Given the description of an element on the screen output the (x, y) to click on. 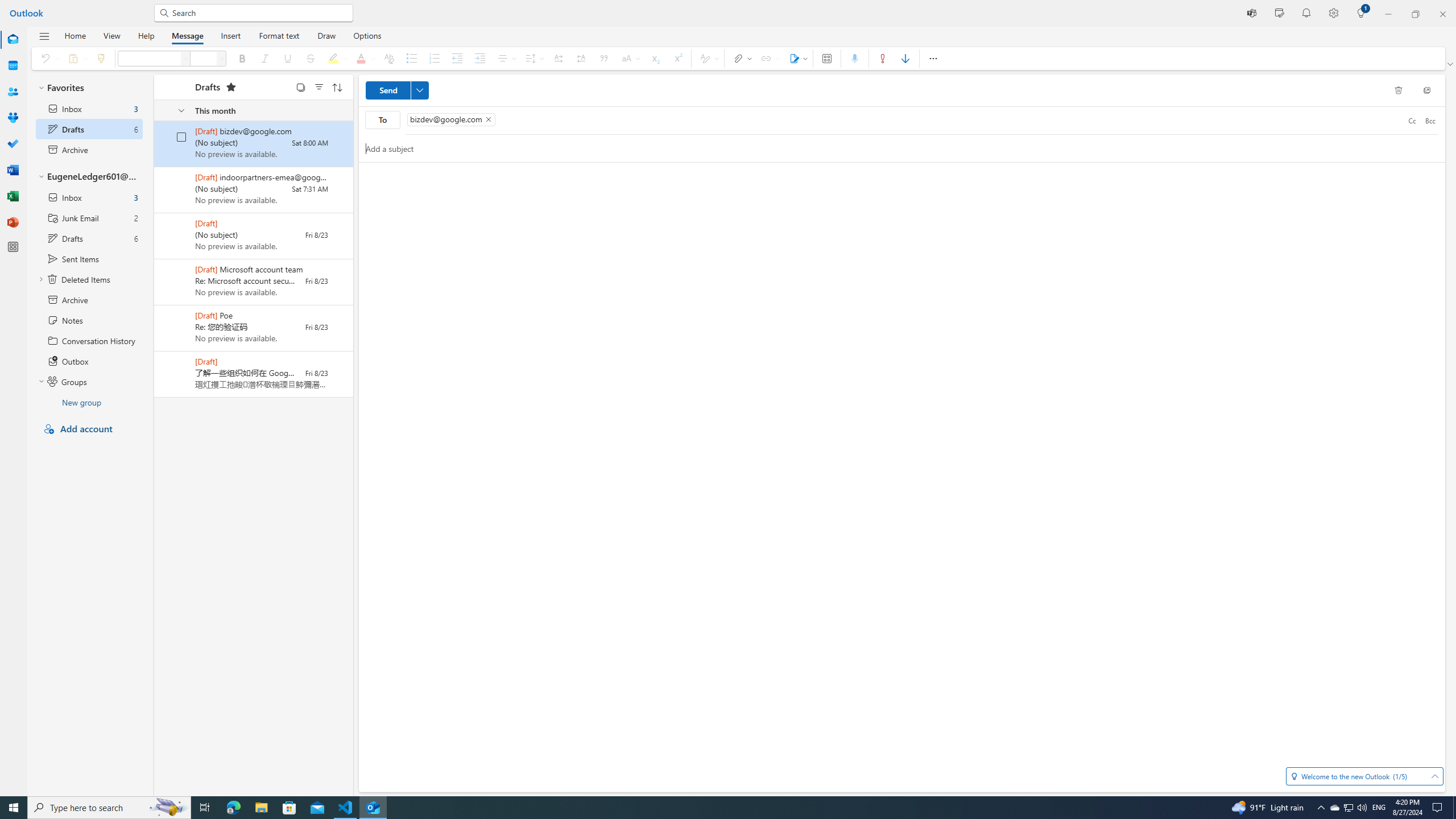
Strikethrough (309, 58)
Discard (1398, 90)
Text highlight color (335, 58)
Filter (318, 86)
System (6, 6)
Draw (326, 35)
To (904, 120)
System (6, 6)
Styles (708, 58)
Undo (47, 58)
